Given the description of an element on the screen output the (x, y) to click on. 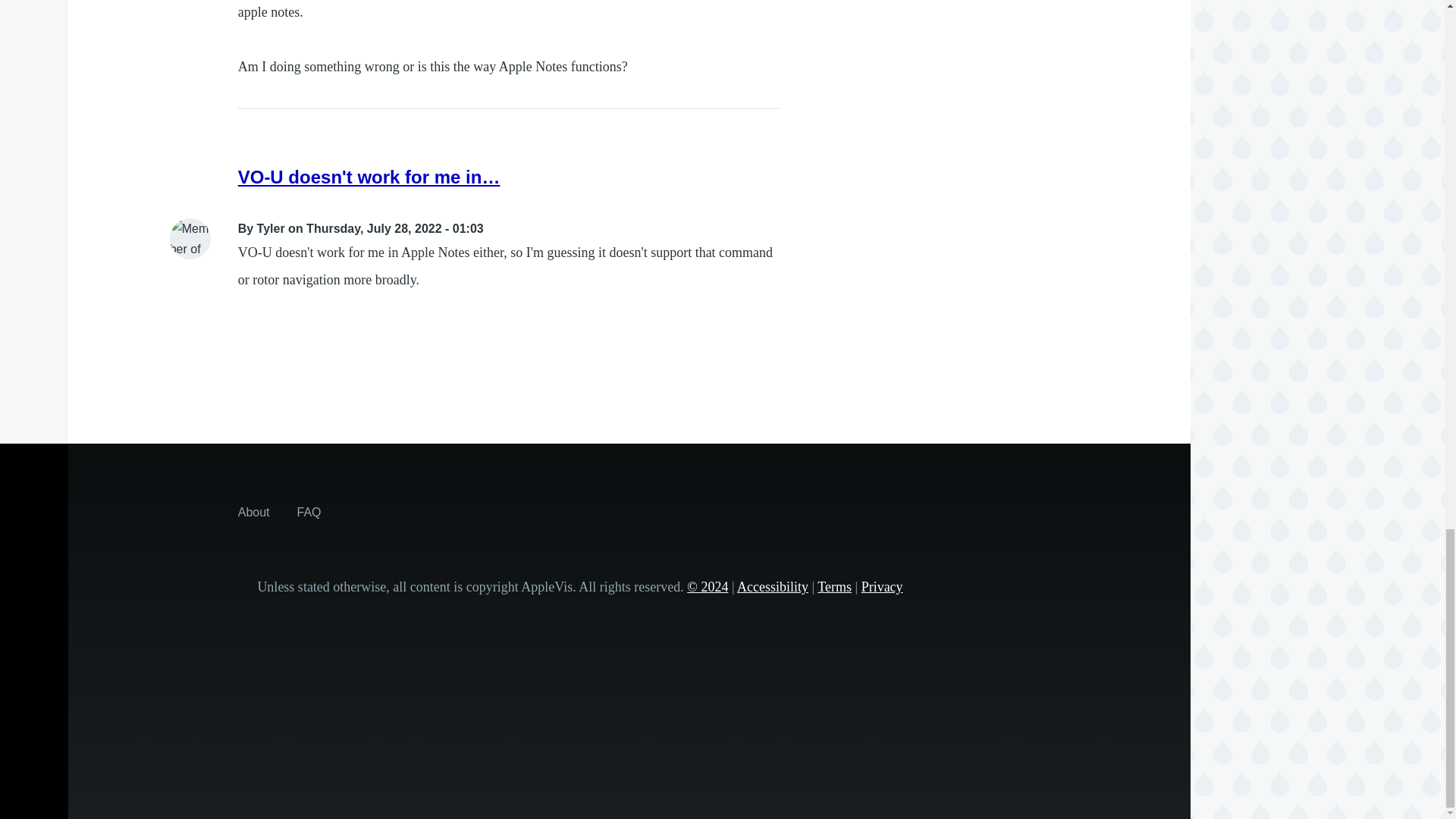
FAQ (309, 511)
Terms (833, 586)
Privacy (881, 586)
About (253, 511)
Accessibility (772, 586)
Answers to some frequently asked questions about AppleVis (309, 511)
About (253, 511)
